Given the description of an element on the screen output the (x, y) to click on. 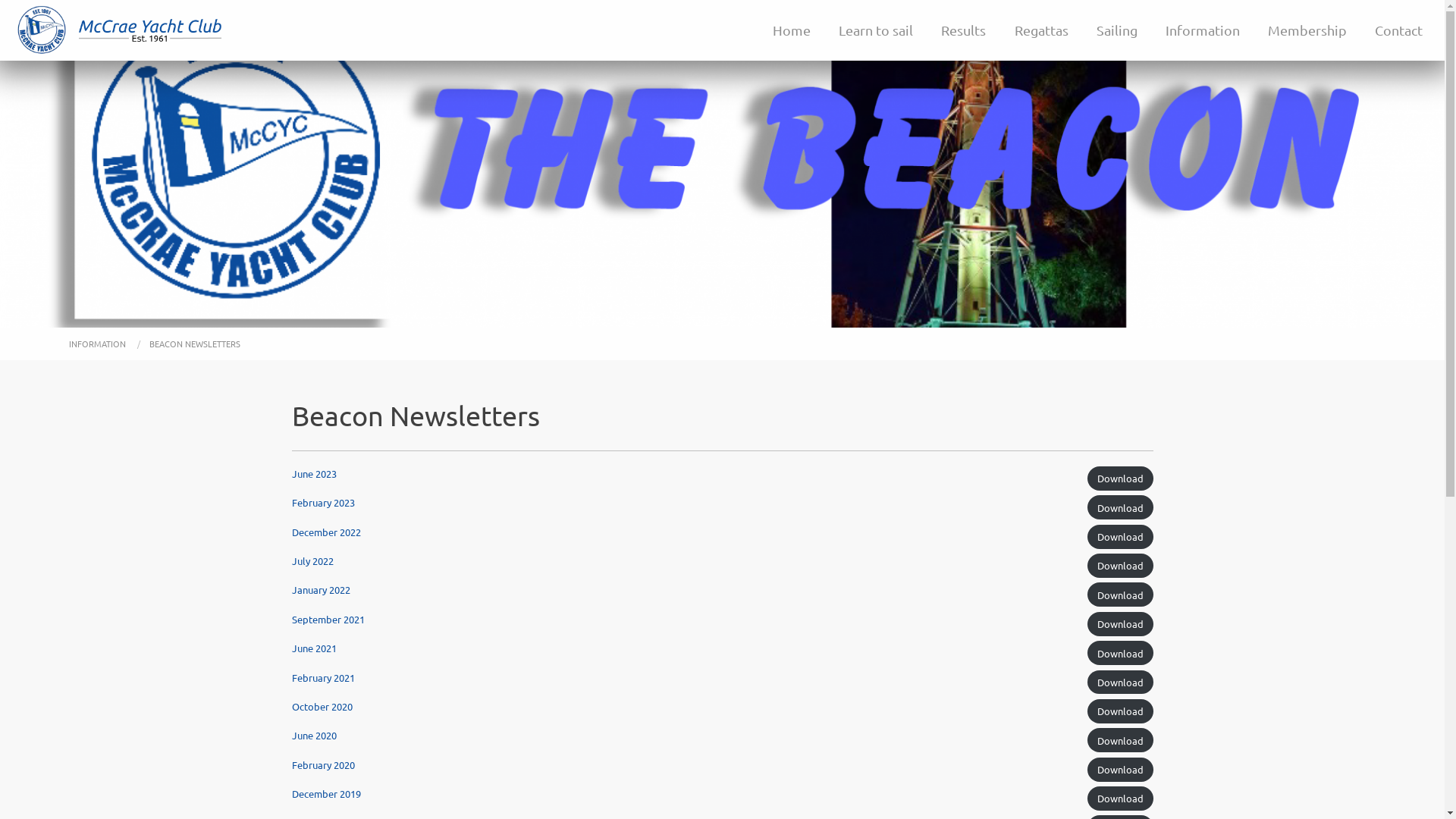
Contact Element type: text (1399, 30)
Download Element type: text (1120, 594)
Download Element type: text (1120, 623)
Download Element type: text (1120, 740)
Download Element type: text (1120, 798)
December 2022 Element type: text (325, 531)
Home Element type: text (791, 30)
September 2021 Element type: text (327, 618)
January 2022 Element type: text (320, 589)
BEACON NEWSLETTERS Element type: text (194, 343)
Download Element type: text (1120, 682)
October 2020 Element type: text (321, 705)
Membership Element type: text (1307, 30)
Download Element type: text (1120, 565)
February 2023 Element type: text (322, 501)
Download Element type: text (1120, 652)
Regattas Element type: text (1041, 30)
Download Element type: text (1120, 769)
February 2021 Element type: text (322, 676)
June 2020 Element type: text (313, 734)
Information Element type: text (1202, 30)
Home Element type: hover (41, 27)
INFORMATION Element type: text (98, 343)
Download Element type: text (1120, 507)
Sailing Element type: text (1116, 30)
Download Element type: text (1120, 536)
Download Element type: text (1120, 478)
July 2022 Element type: text (311, 560)
June 2023 Element type: text (313, 473)
Results Element type: text (963, 30)
June 2021 Element type: text (313, 647)
Learn to sail Element type: text (876, 30)
February 2020 Element type: text (322, 764)
Download Element type: text (1120, 711)
December 2019 Element type: text (325, 793)
